Given the description of an element on the screen output the (x, y) to click on. 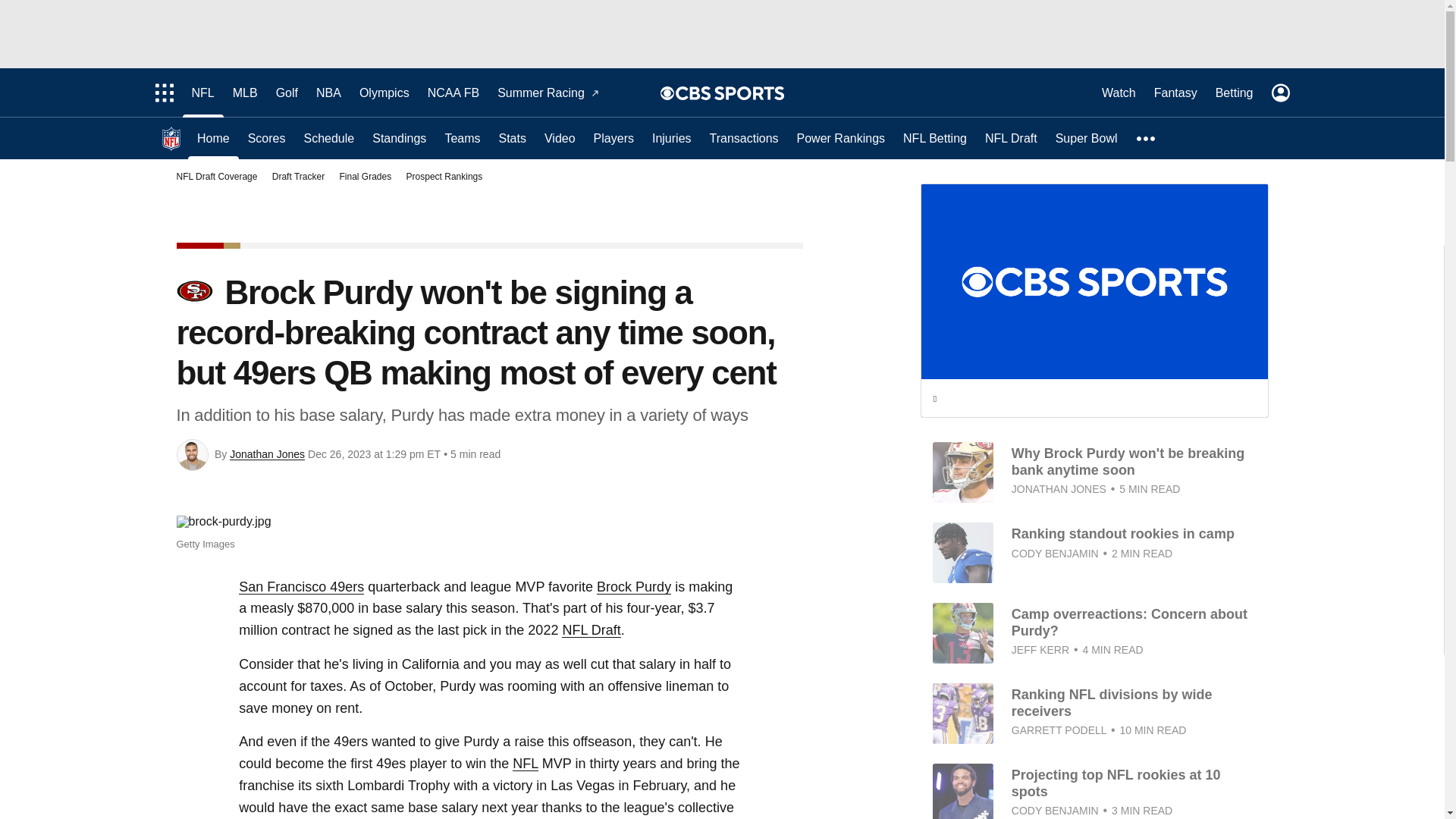
All Sports Menu (163, 92)
CBS Logo (729, 92)
NFL (202, 92)
CBS Eye (667, 92)
